Given the description of an element on the screen output the (x, y) to click on. 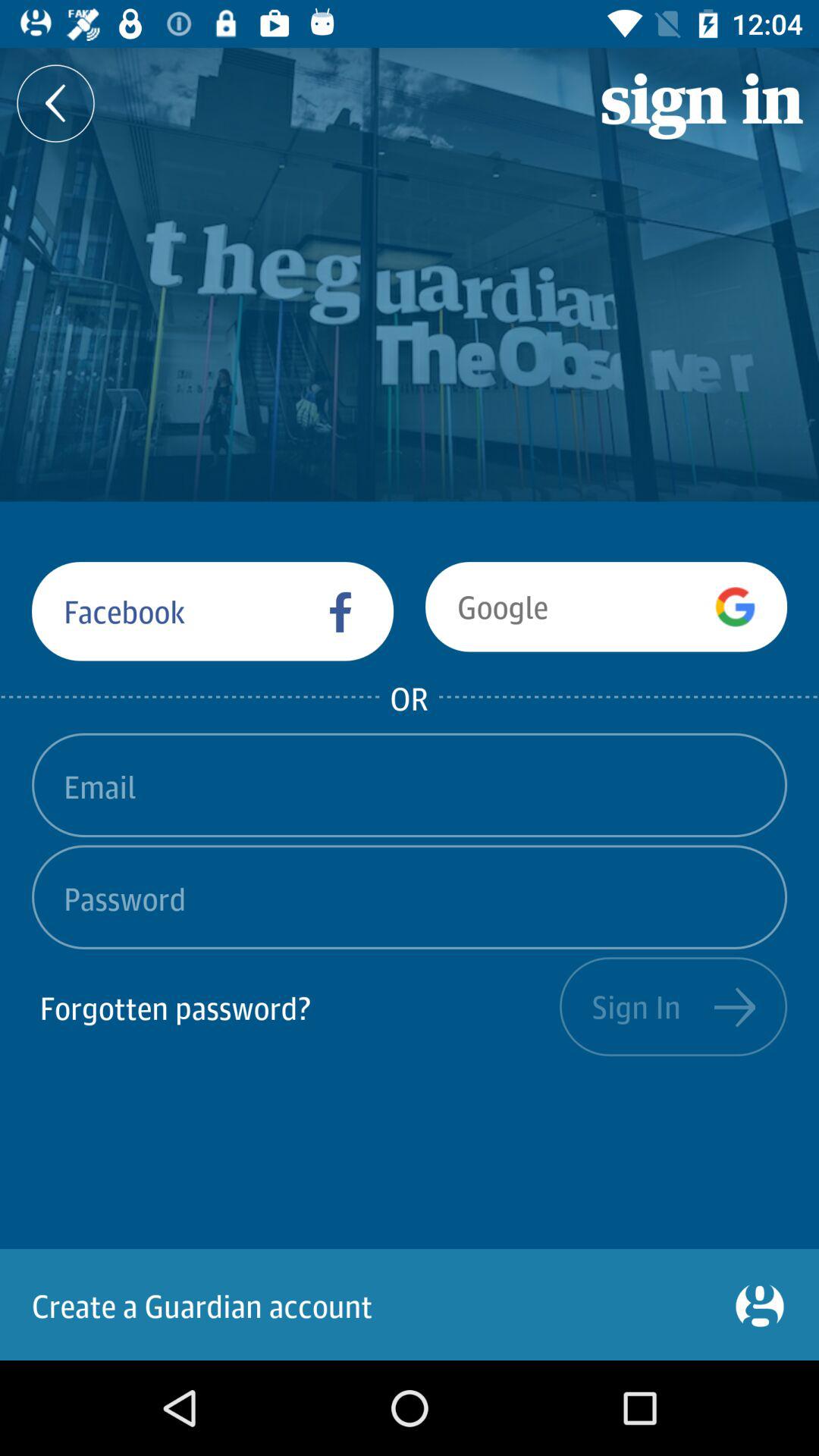
choose item to the left of sign in (295, 1006)
